Given the description of an element on the screen output the (x, y) to click on. 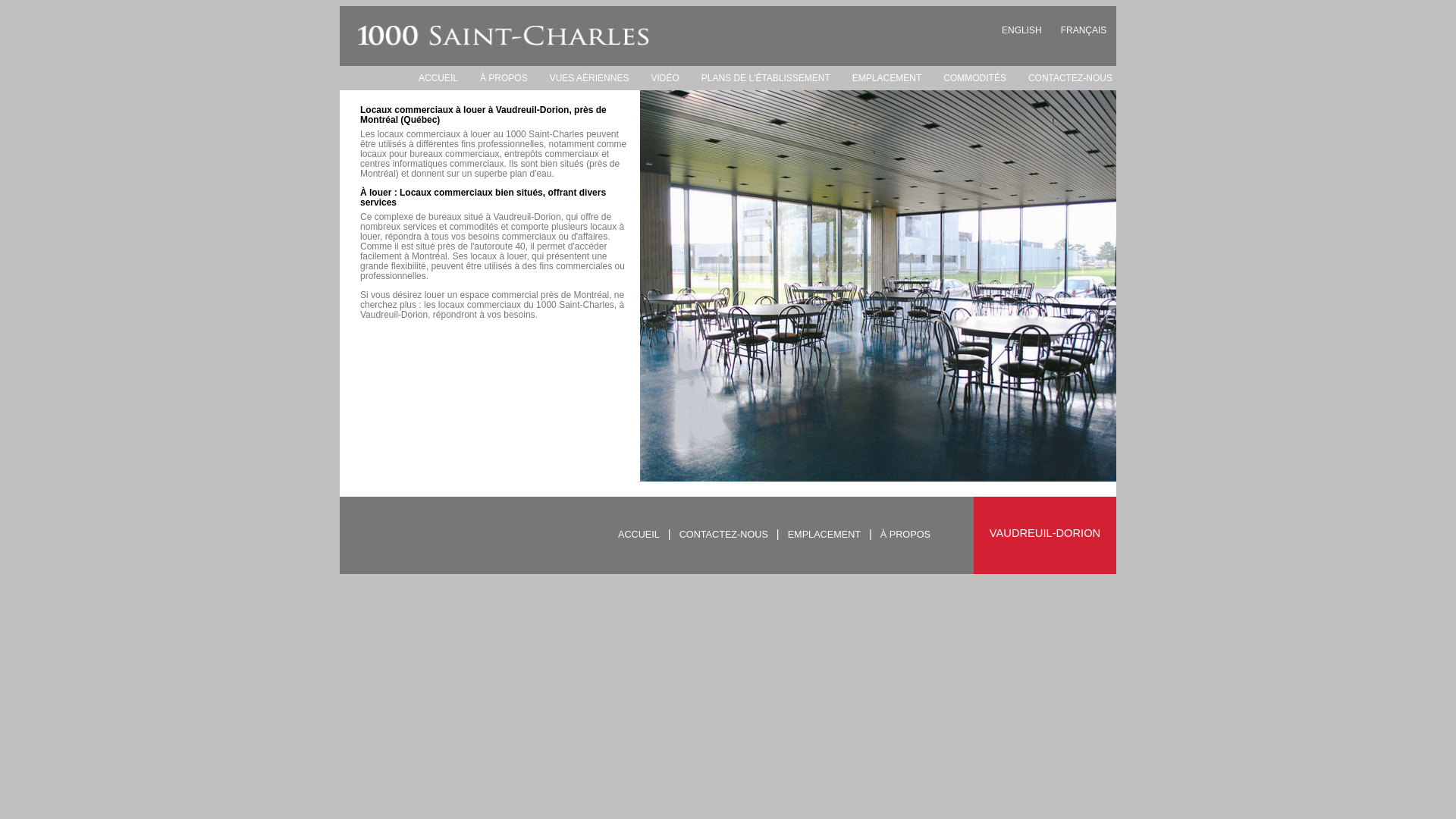
ENGLISH Element type: text (1021, 30)
CONTACTEZ-NOUS Element type: text (1063, 77)
ACCUEIL Element type: text (638, 534)
EMPLACEMENT Element type: text (879, 77)
CONTACTEZ-NOUS Element type: text (723, 534)
EMPLACEMENT Element type: text (824, 534)
ACCUEIL Element type: text (430, 77)
